Given the description of an element on the screen output the (x, y) to click on. 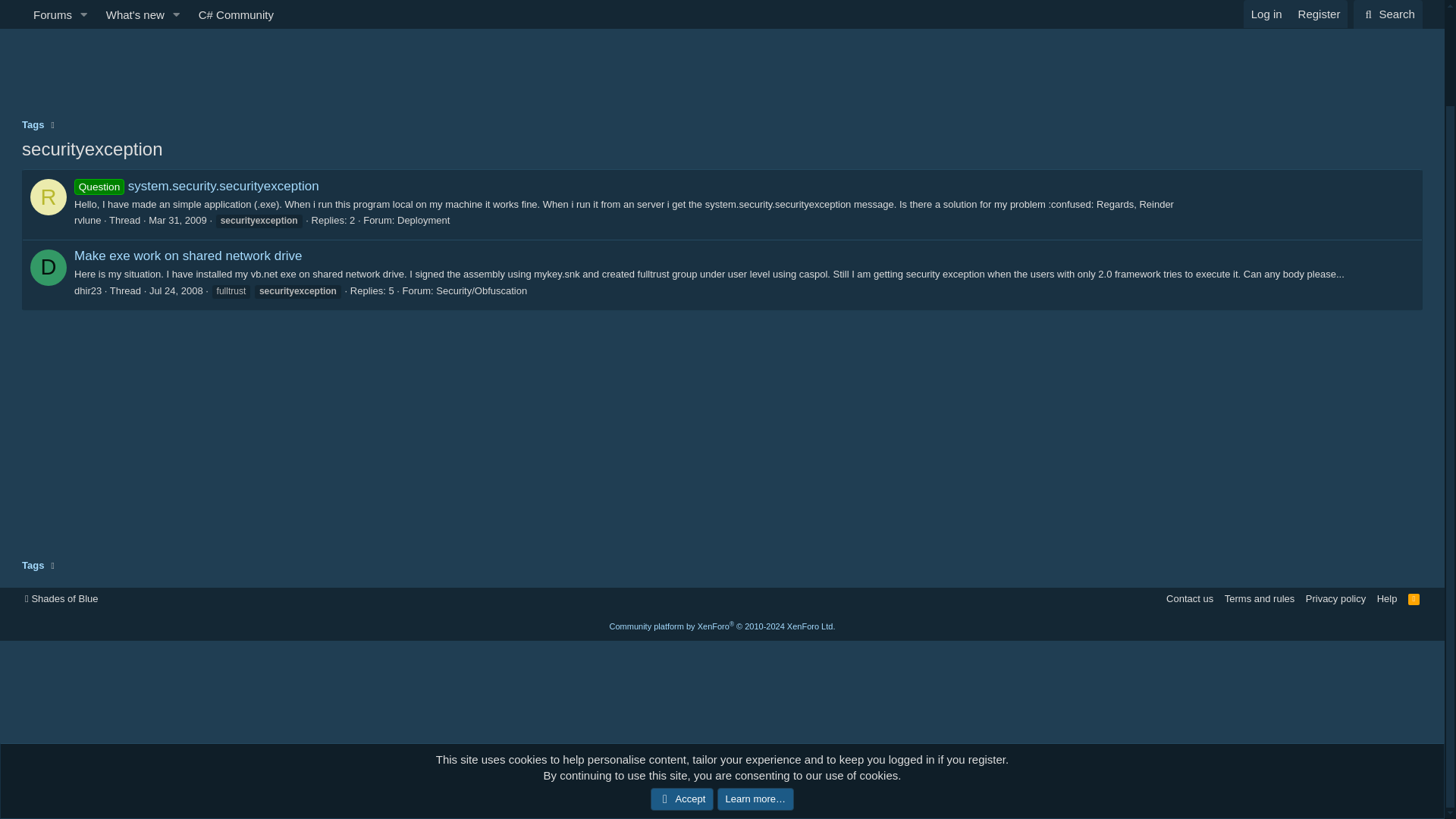
Tags (32, 565)
Terms and rules (722, 20)
D (1259, 598)
rvlune (48, 267)
R (87, 220)
Question system.security.securityexception (48, 197)
Jul 24, 2008 at 7:17 PM (196, 186)
Make exe work on shared network drive (176, 290)
RSS (187, 255)
